Given the description of an element on the screen output the (x, y) to click on. 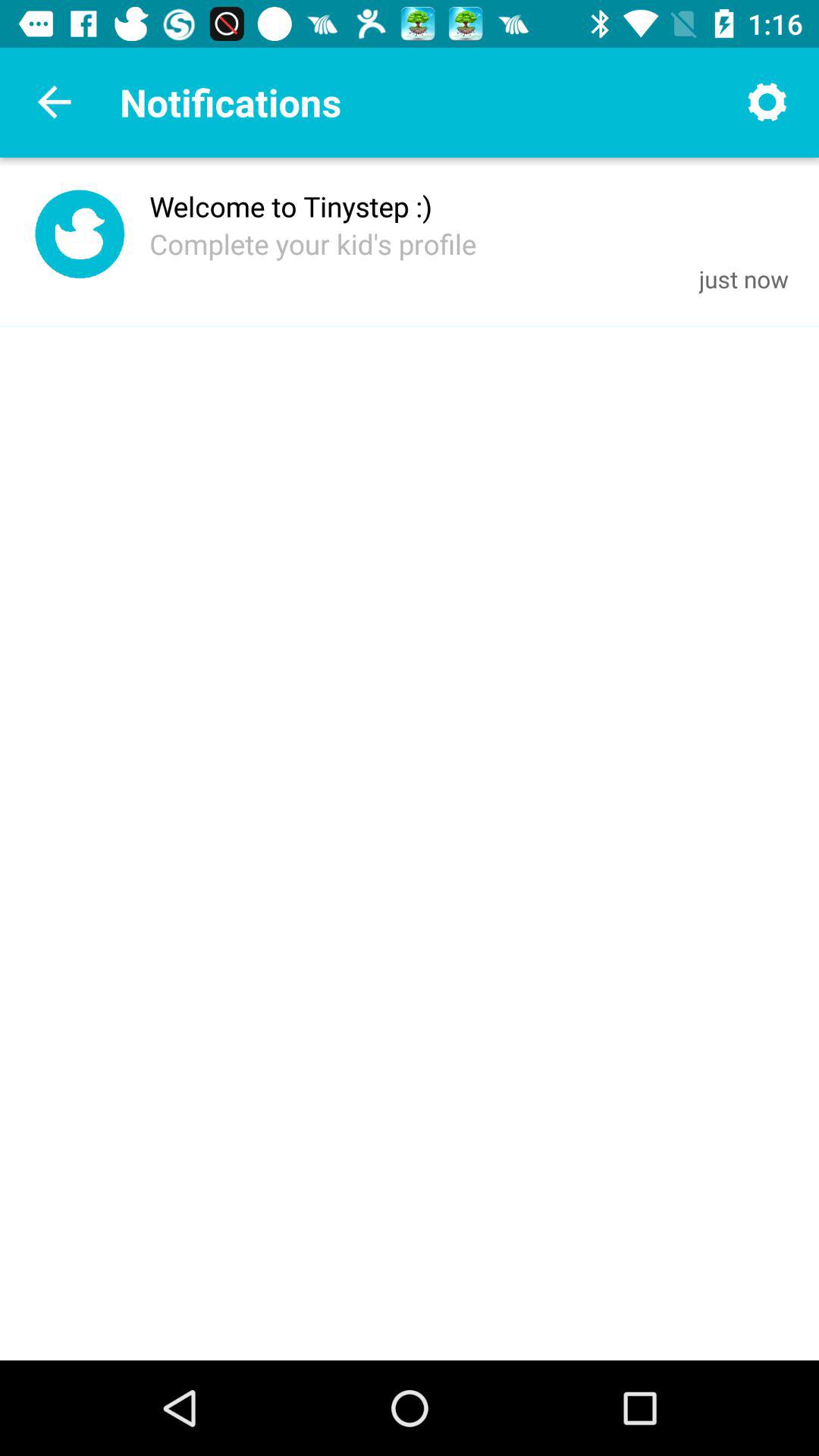
click welcome to tinystep :) icon (290, 206)
